Given the description of an element on the screen output the (x, y) to click on. 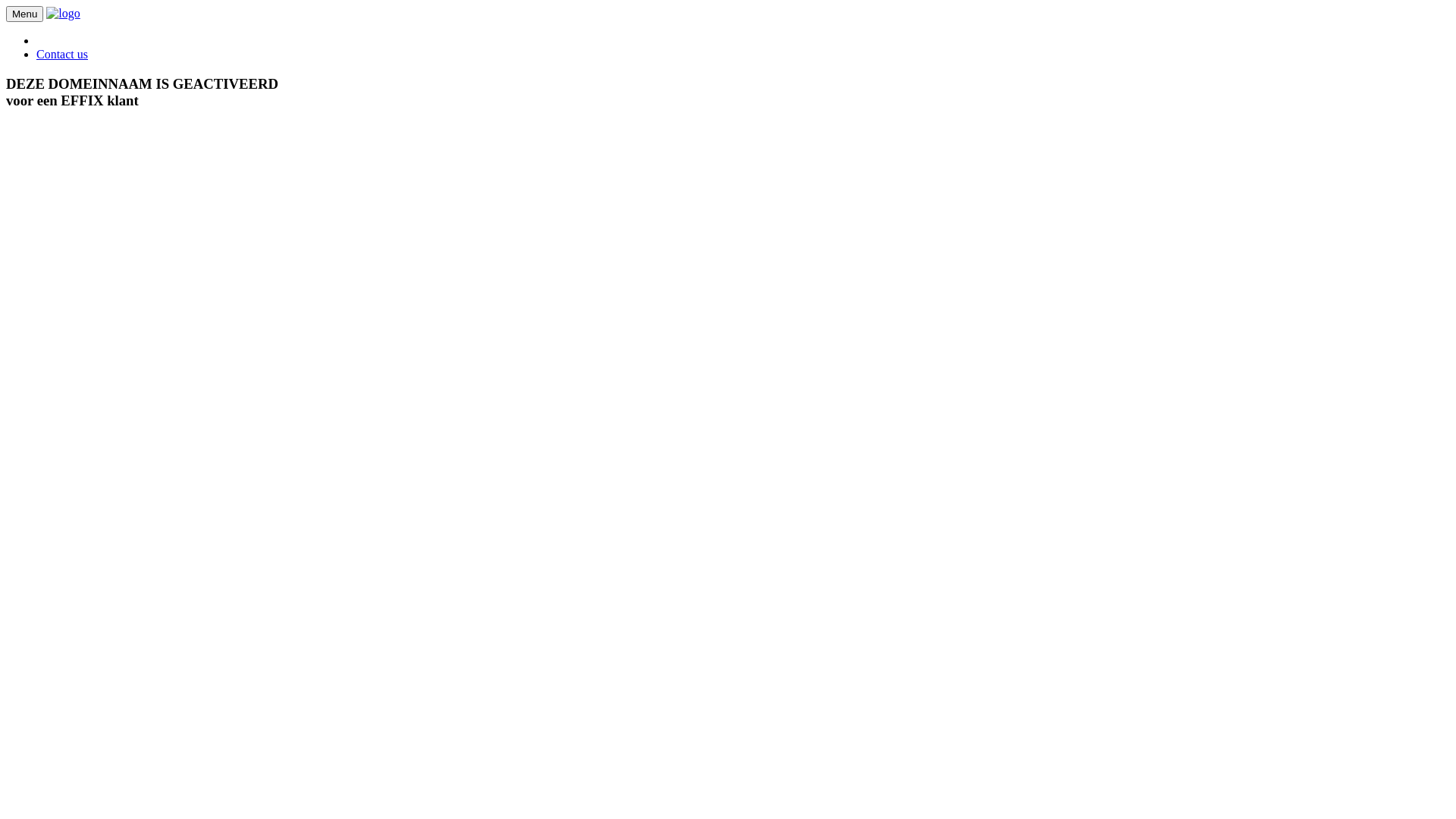
Contact us Element type: text (61, 53)
logo Effix Element type: hover (62, 13)
Menu Element type: text (24, 13)
